Given the description of an element on the screen output the (x, y) to click on. 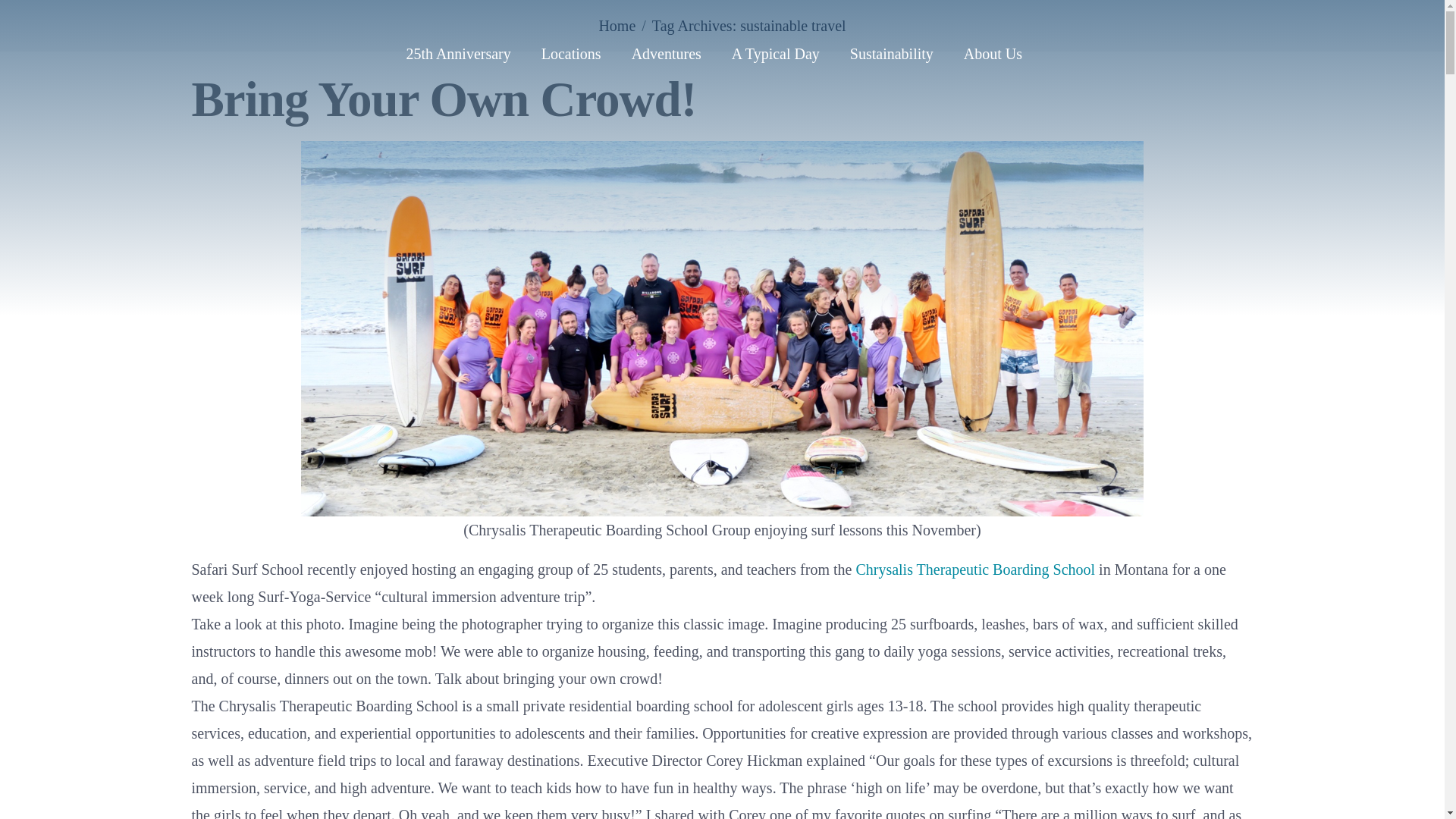
A Typical Day (775, 53)
Adventures (665, 53)
Bring Your Own Crowd! (442, 99)
Sustainability (891, 53)
Locations (570, 53)
25th Anniversary (457, 53)
About Us (992, 53)
